Given the description of an element on the screen output the (x, y) to click on. 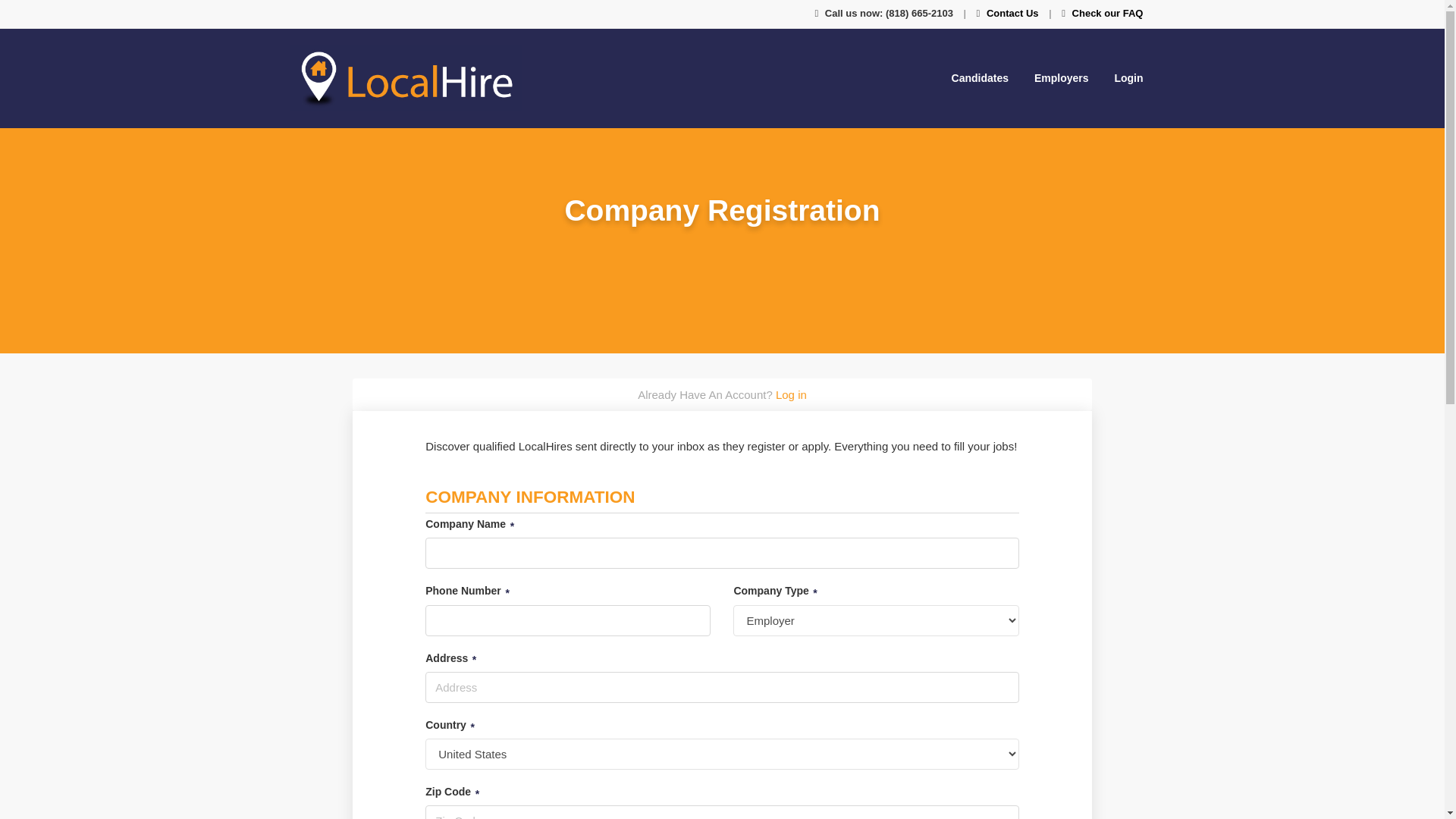
Contact Us (1013, 12)
Check our FAQ (1106, 12)
Log in (791, 394)
